Given the description of an element on the screen output the (x, y) to click on. 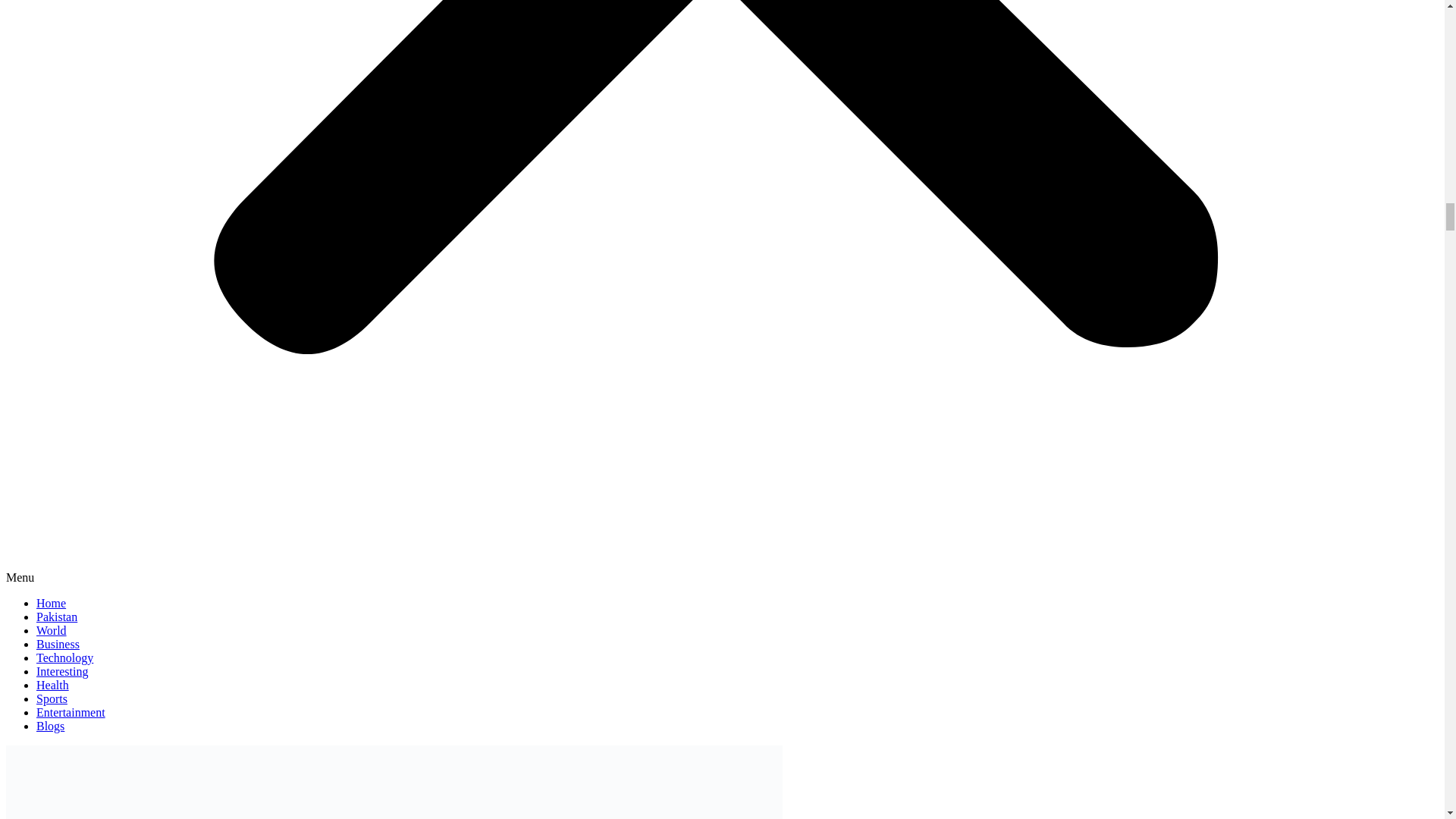
Blogs (50, 725)
World (51, 630)
Business (58, 644)
Sports (51, 698)
Home (50, 603)
Interesting (61, 671)
Technology (64, 657)
Health (52, 684)
Pakistan (56, 616)
Entertainment (70, 712)
